Given the description of an element on the screen output the (x, y) to click on. 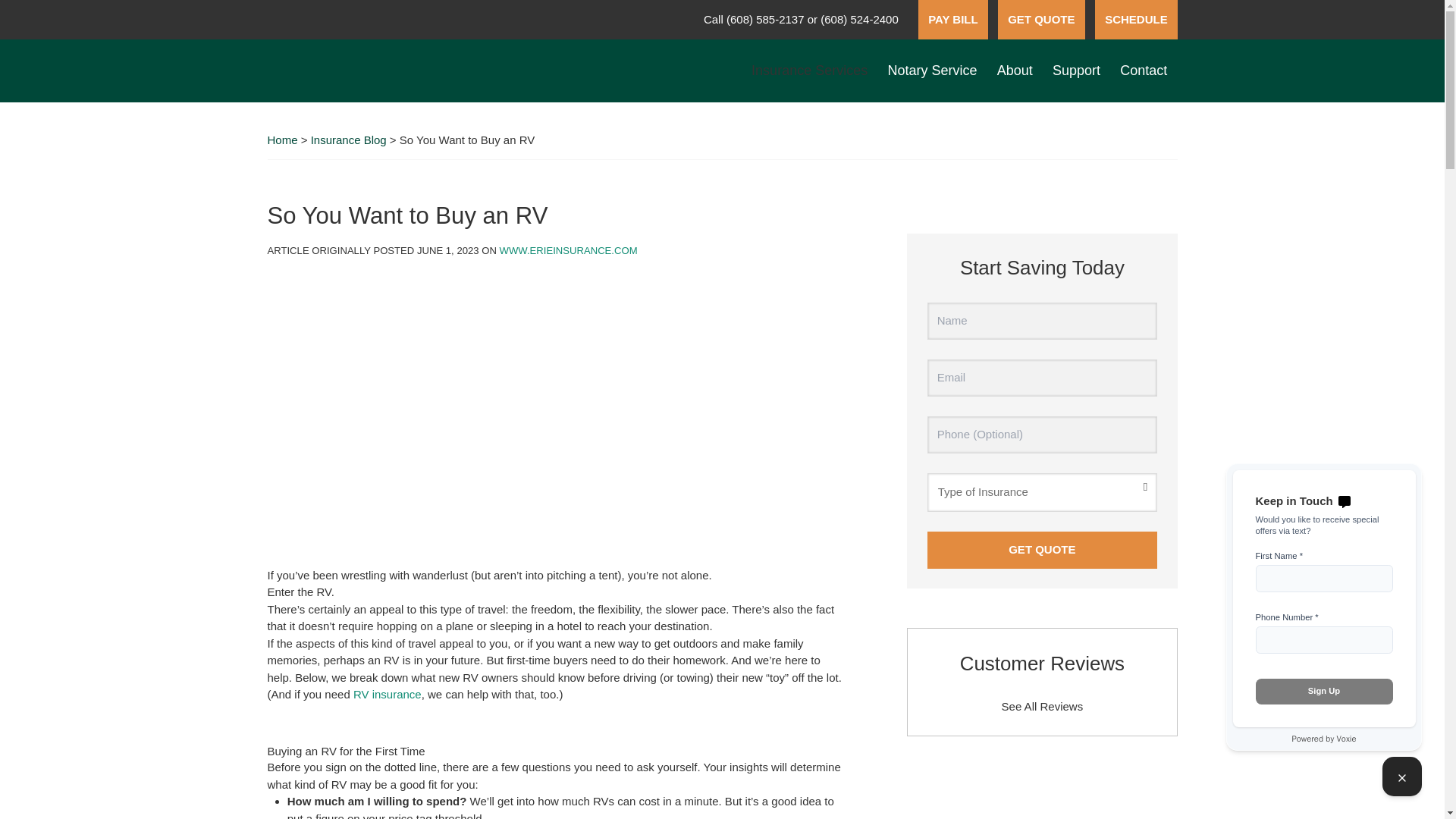
Get Quote (1041, 549)
PAY BILL (953, 19)
Support (1075, 70)
SCHEDULE (1135, 19)
Notary Service (932, 70)
Insurance Services (809, 70)
GET QUOTE (1040, 19)
About (1014, 70)
